Given the description of an element on the screen output the (x, y) to click on. 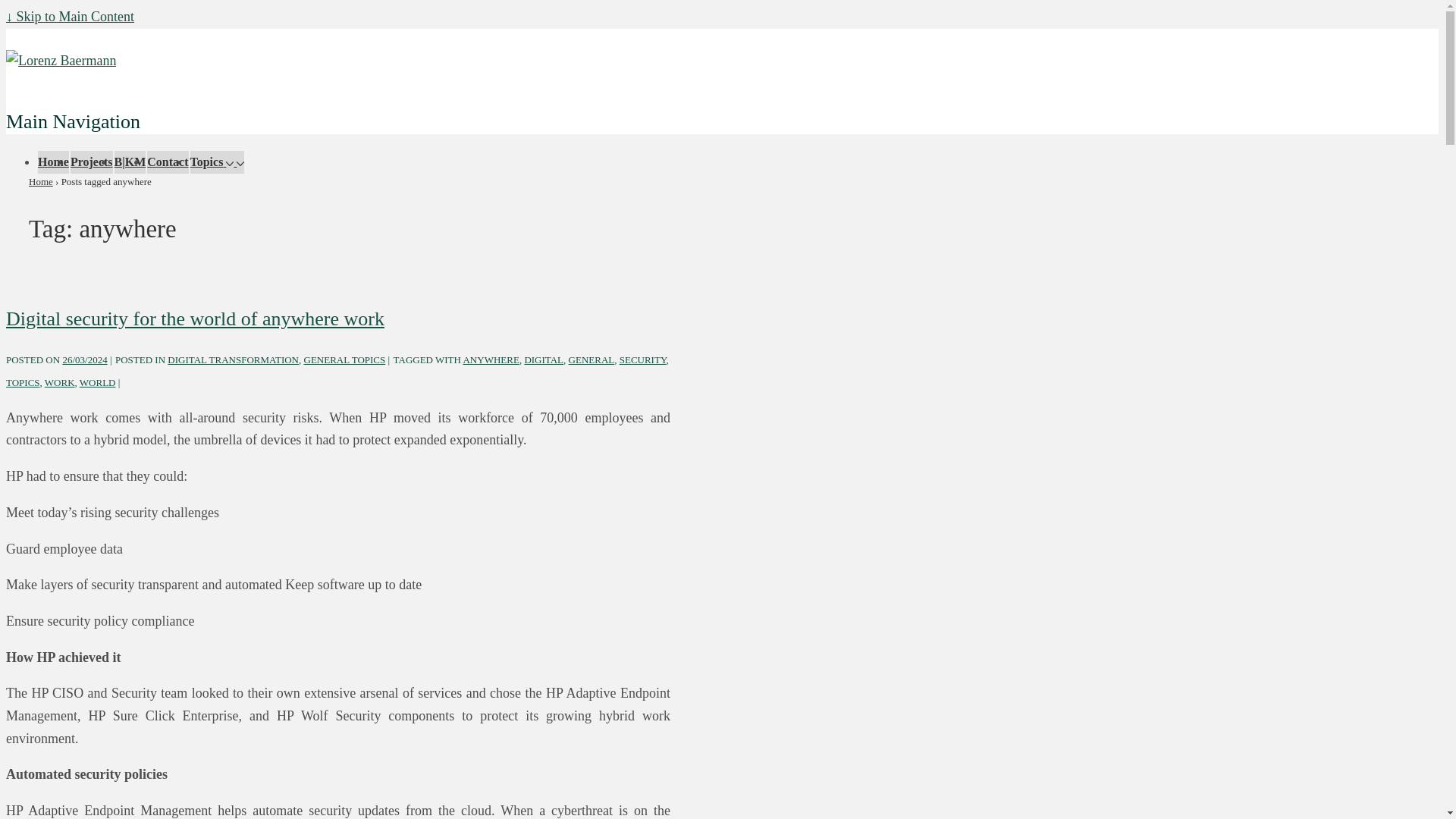
TOPICS (22, 382)
ANYWHERE (490, 359)
Projects (91, 161)
Topics (213, 161)
WORK (60, 382)
Home (52, 161)
Contact (167, 161)
DIGITAL (543, 359)
SECURITY (643, 359)
Digital security for the world of anywhere work (84, 359)
